Given the description of an element on the screen output the (x, y) to click on. 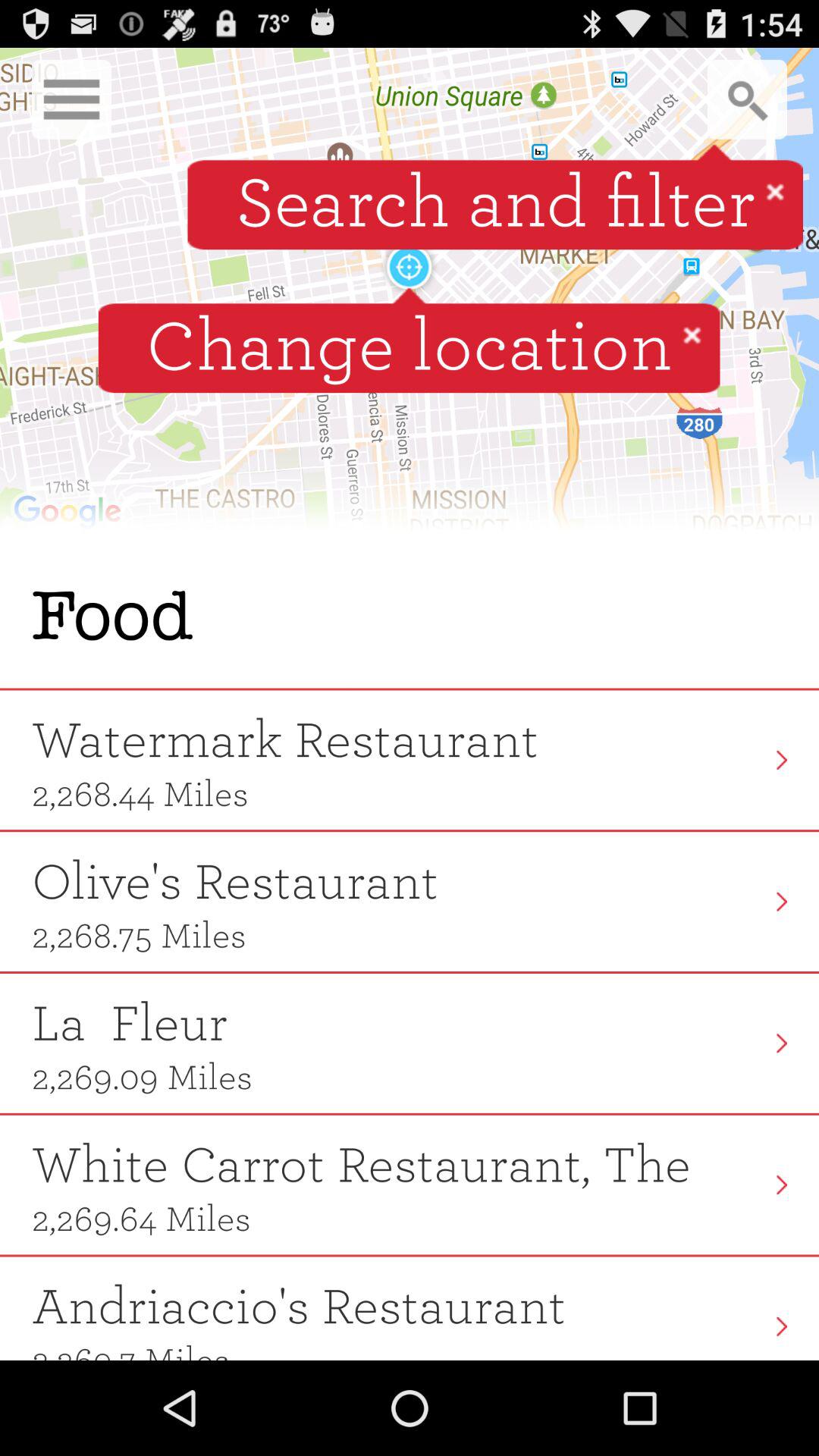
close location (692, 334)
